Given the description of an element on the screen output the (x, y) to click on. 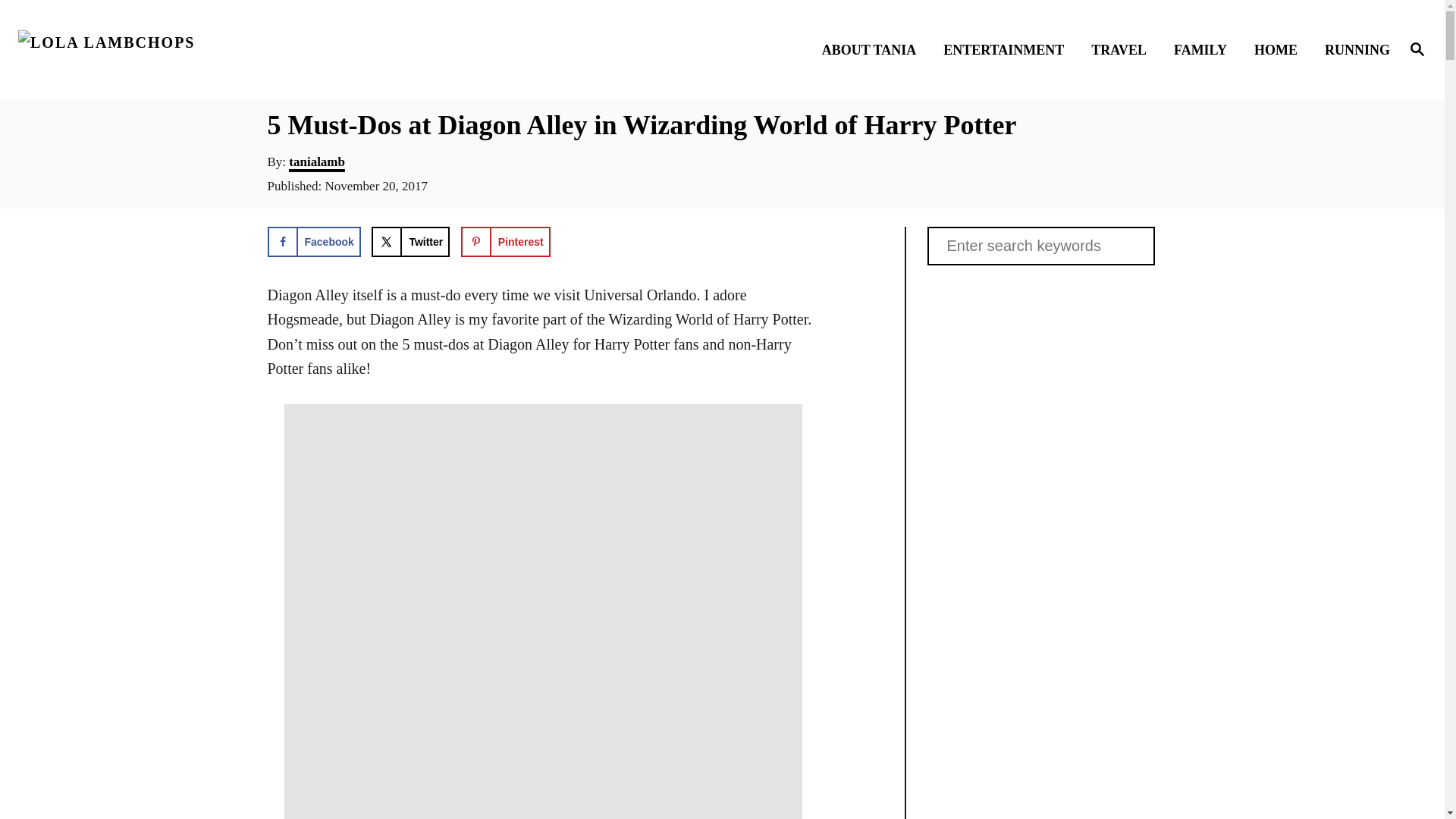
TRAVEL (1122, 49)
Save to Pinterest (505, 241)
ENTERTAINMENT (1007, 49)
Search for: (1040, 245)
Lola Lambchops (187, 50)
Twitter (410, 241)
Pinterest (505, 241)
ABOUT TANIA (873, 49)
Magnifying Glass (1416, 48)
Facebook (312, 241)
HOME (1280, 49)
RUNNING (1353, 49)
FAMILY (1204, 49)
Share on X (410, 241)
Share on Facebook (312, 241)
